Given the description of an element on the screen output the (x, y) to click on. 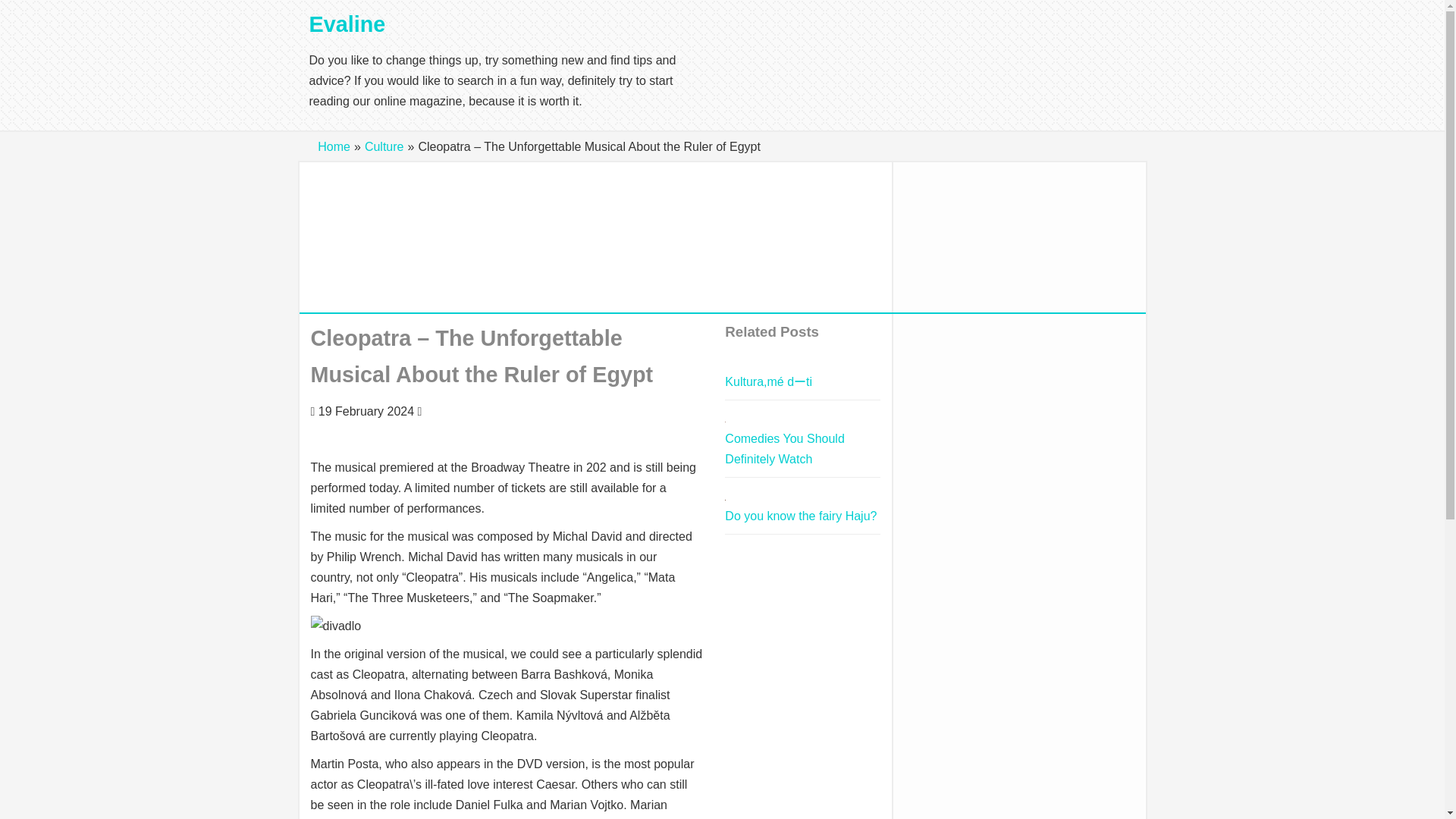
Do you know the fairy Haju? (800, 515)
Culture (384, 146)
Do you know the fairy Haju? (800, 515)
Evaline (346, 24)
Evaline (346, 24)
Home (333, 146)
Comedies You Should Definitely Watch (784, 449)
Comedies You Should Definitely Watch (784, 449)
